Given the description of an element on the screen output the (x, y) to click on. 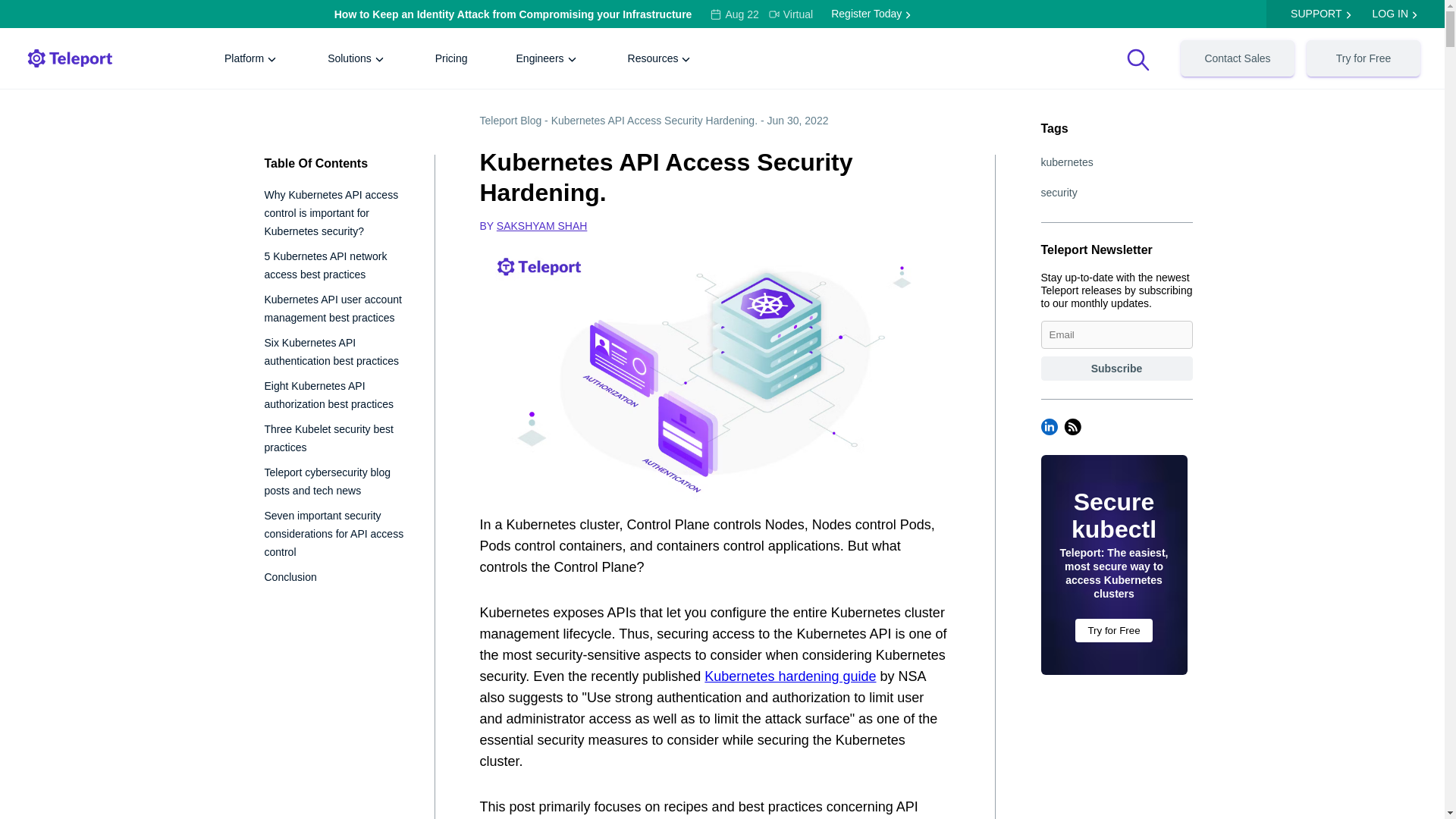
SUPPORT (1315, 13)
Pricing (451, 57)
LOG IN (1390, 13)
